Given the description of an element on the screen output the (x, y) to click on. 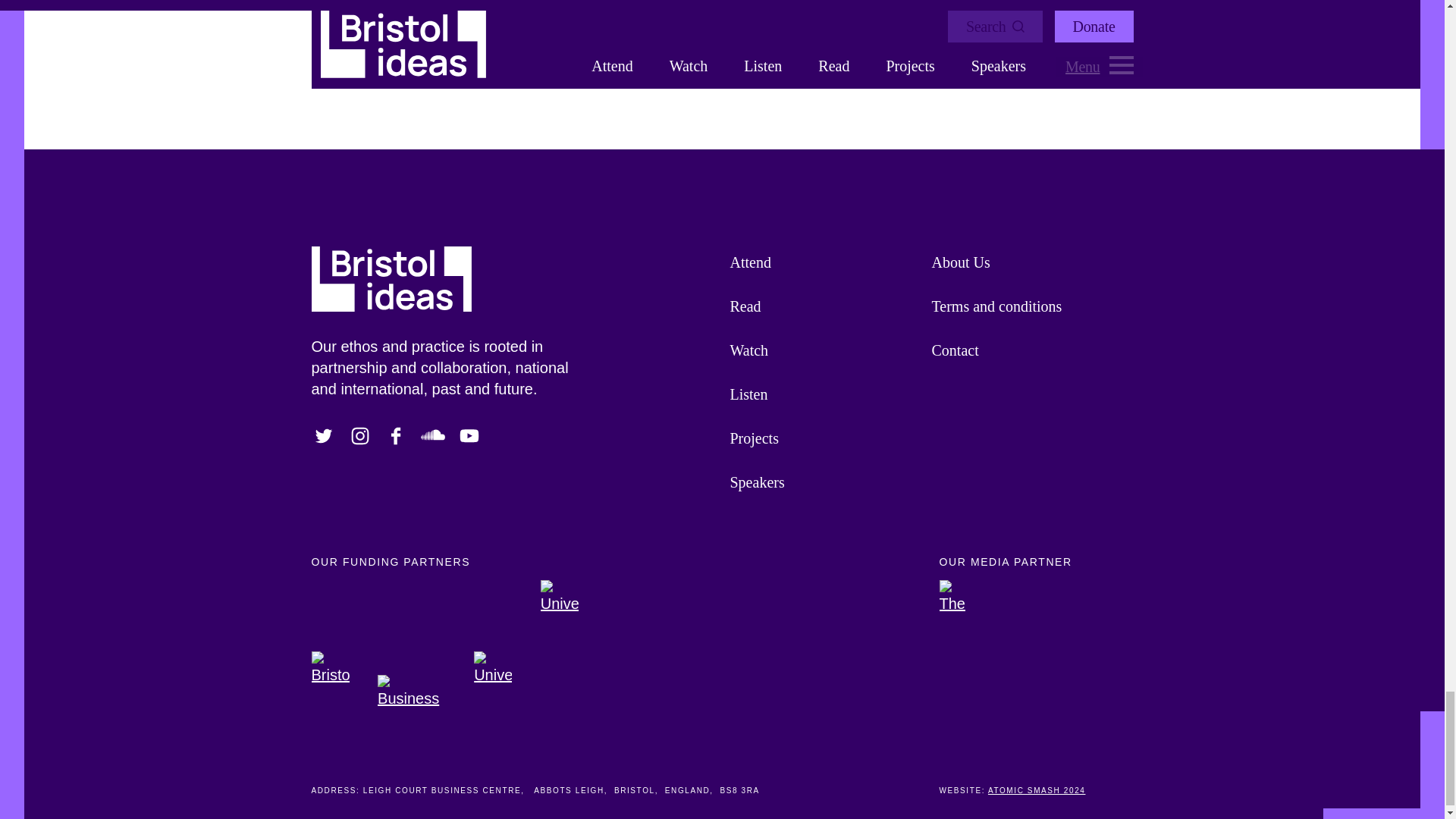
Contact (1024, 350)
Attend (822, 262)
Listen (822, 394)
Terms and conditions (1024, 306)
Watch (822, 350)
About Us (1024, 262)
Projects (822, 438)
Read (822, 306)
Speakers (822, 482)
